Given the description of an element on the screen output the (x, y) to click on. 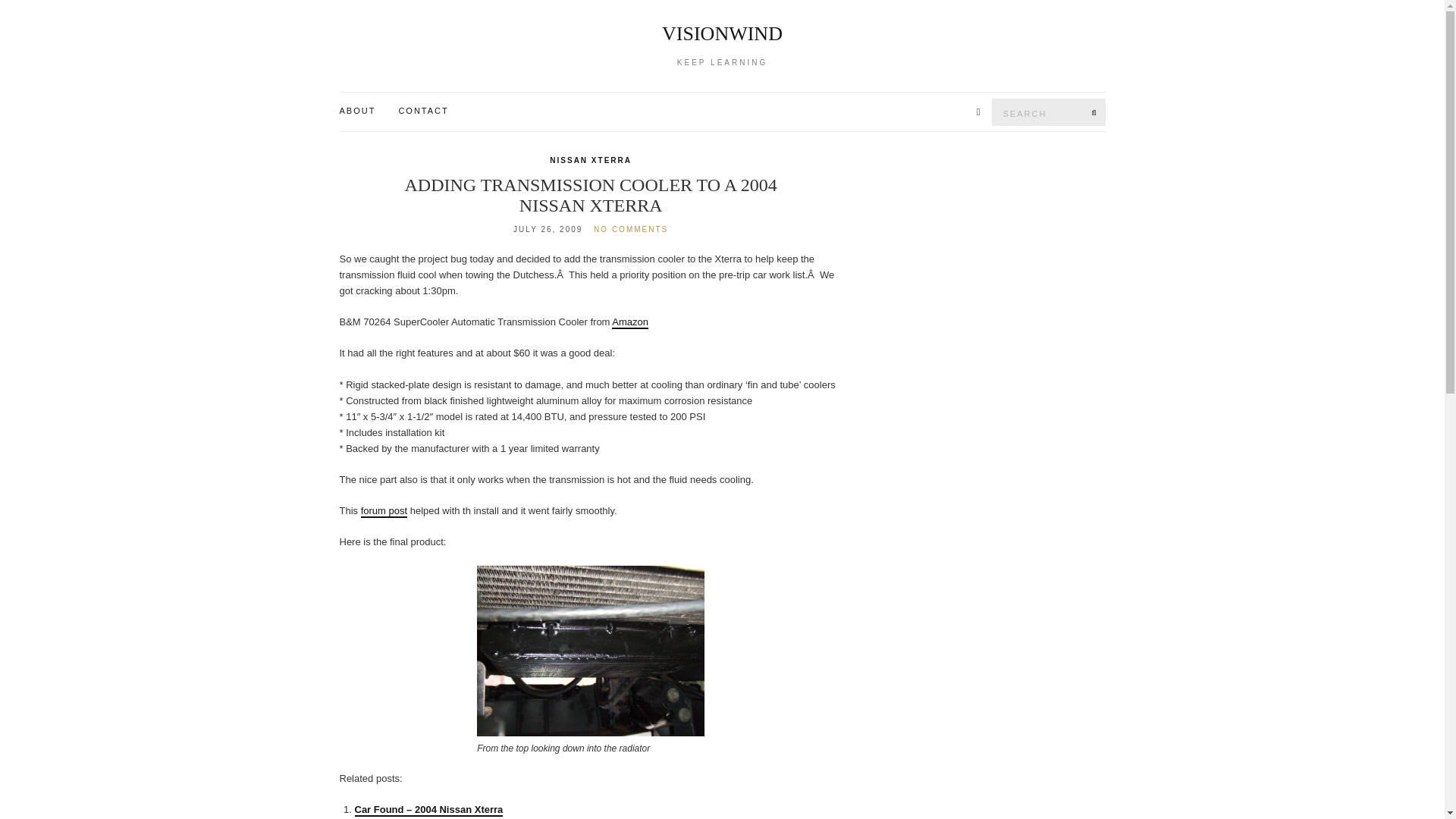
Amazon (629, 322)
B and M Transmission Cooler on 2004 Nissan Xterra (590, 650)
NO COMMENTS (631, 229)
VISIONWIND (722, 33)
forum post (384, 511)
CONTACT (422, 110)
ABOUT (357, 110)
NISSAN XTERRA (590, 160)
